Given the description of an element on the screen output the (x, y) to click on. 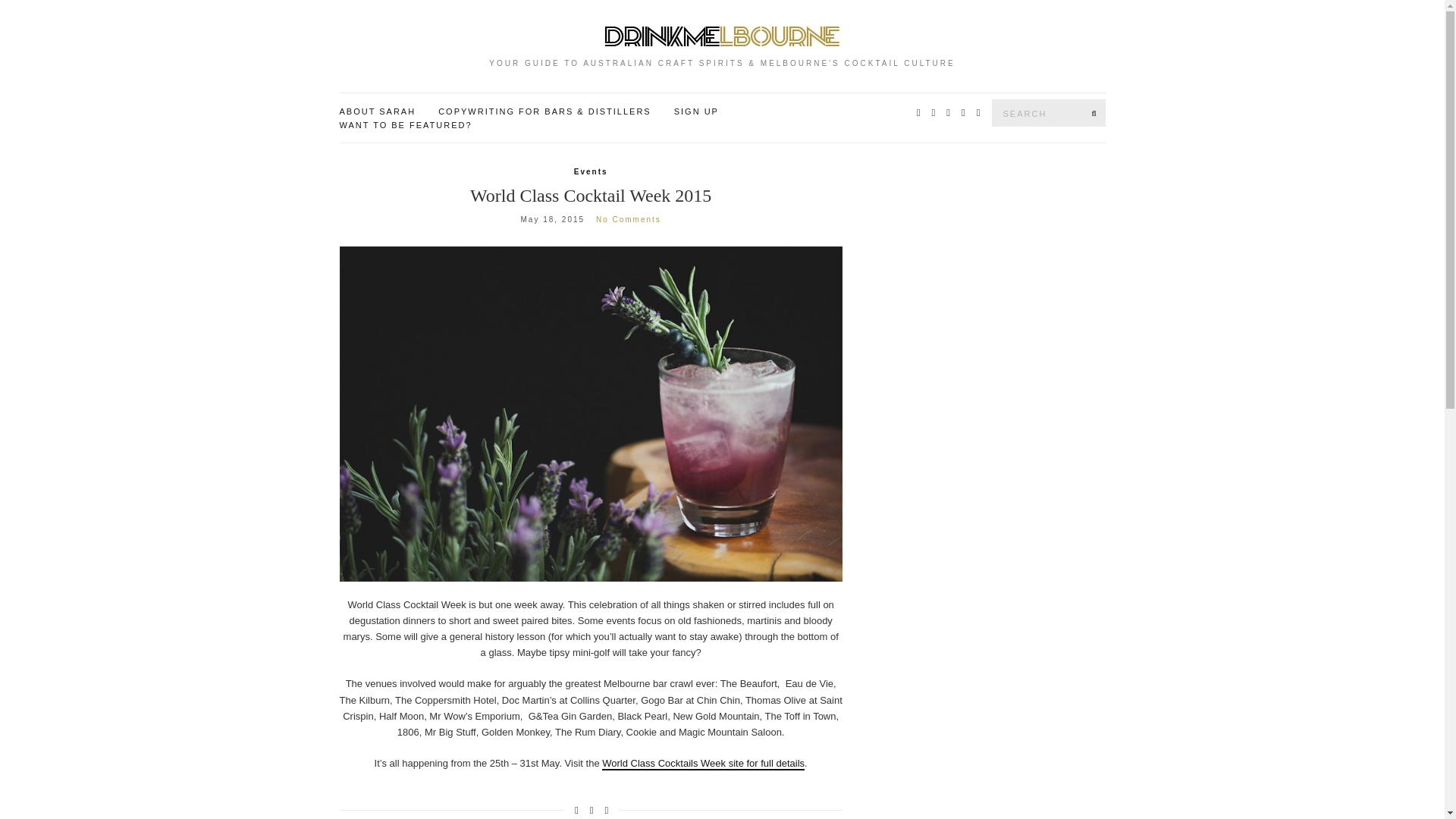
World Class Cocktails Week site for full details (703, 763)
Events (590, 172)
SIGN UP (696, 111)
No Comments (628, 219)
WANT TO BE FEATURED? (405, 125)
ABOUT SARAH (377, 111)
